Given the description of an element on the screen output the (x, y) to click on. 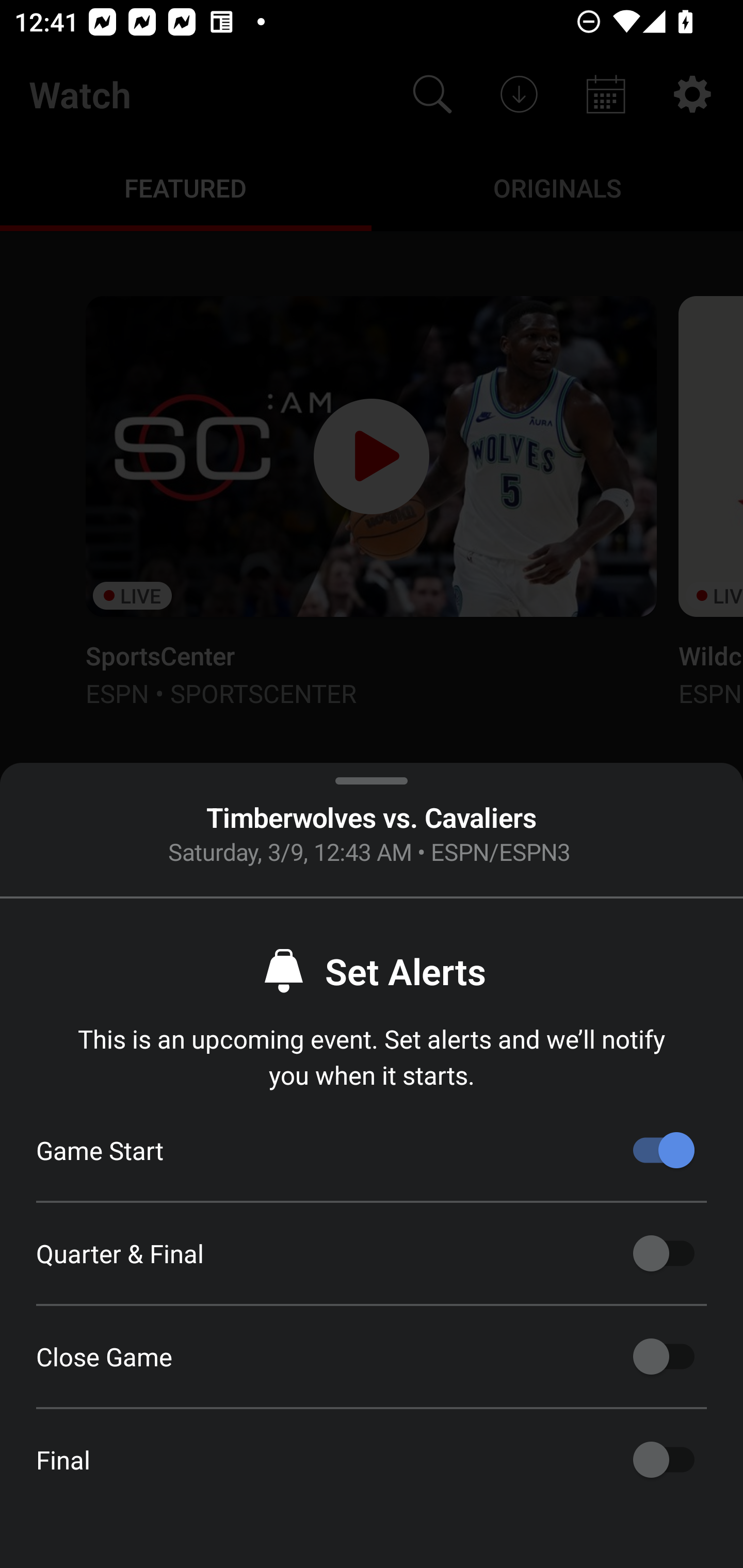
Quarter & Final (663, 1253)
Close Game (663, 1356)
Final (663, 1459)
